Given the description of an element on the screen output the (x, y) to click on. 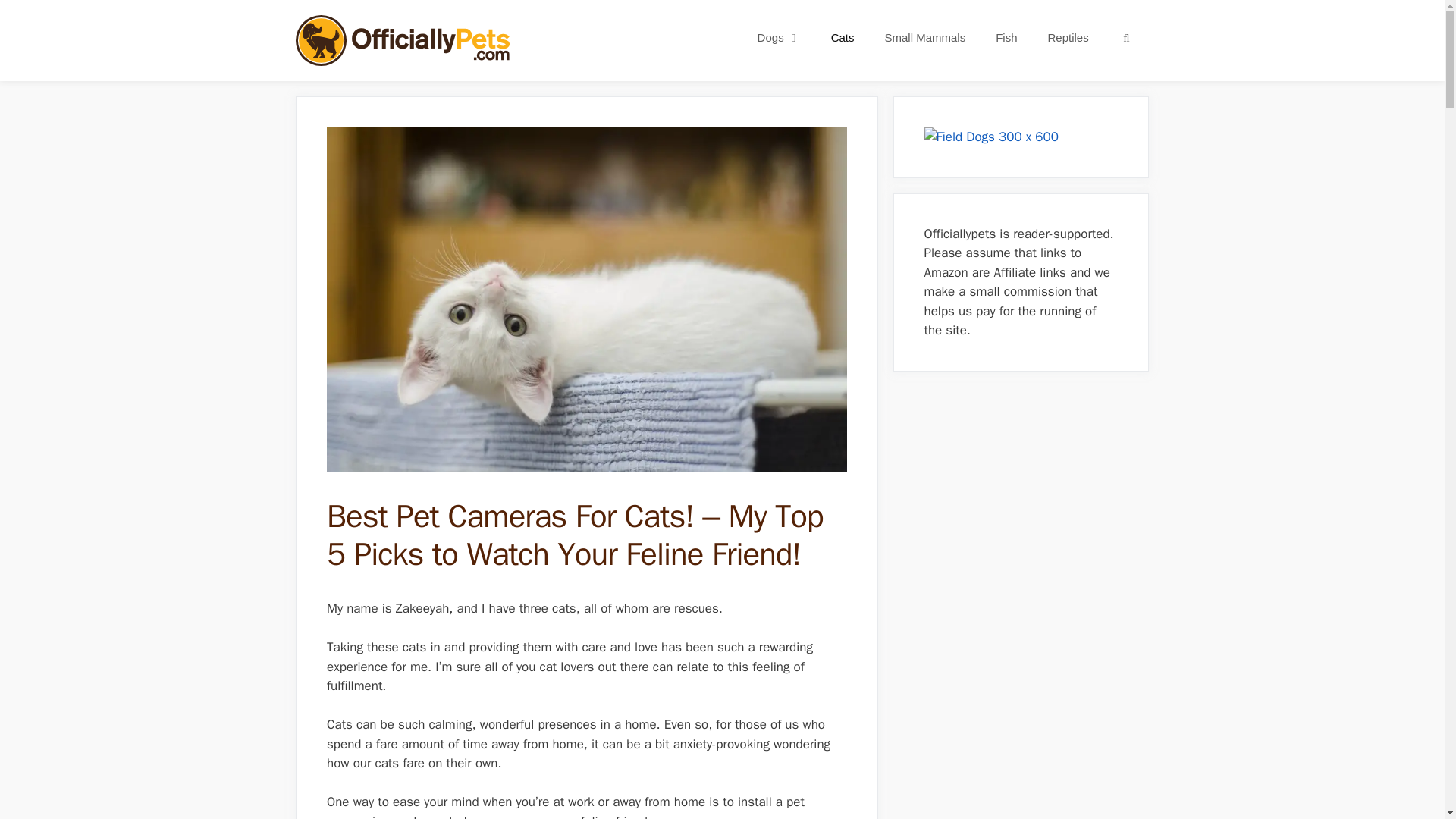
Fish (1005, 37)
Cats (842, 37)
Dogs (778, 37)
Reptiles (1067, 37)
Small Mammals (924, 37)
